Given the description of an element on the screen output the (x, y) to click on. 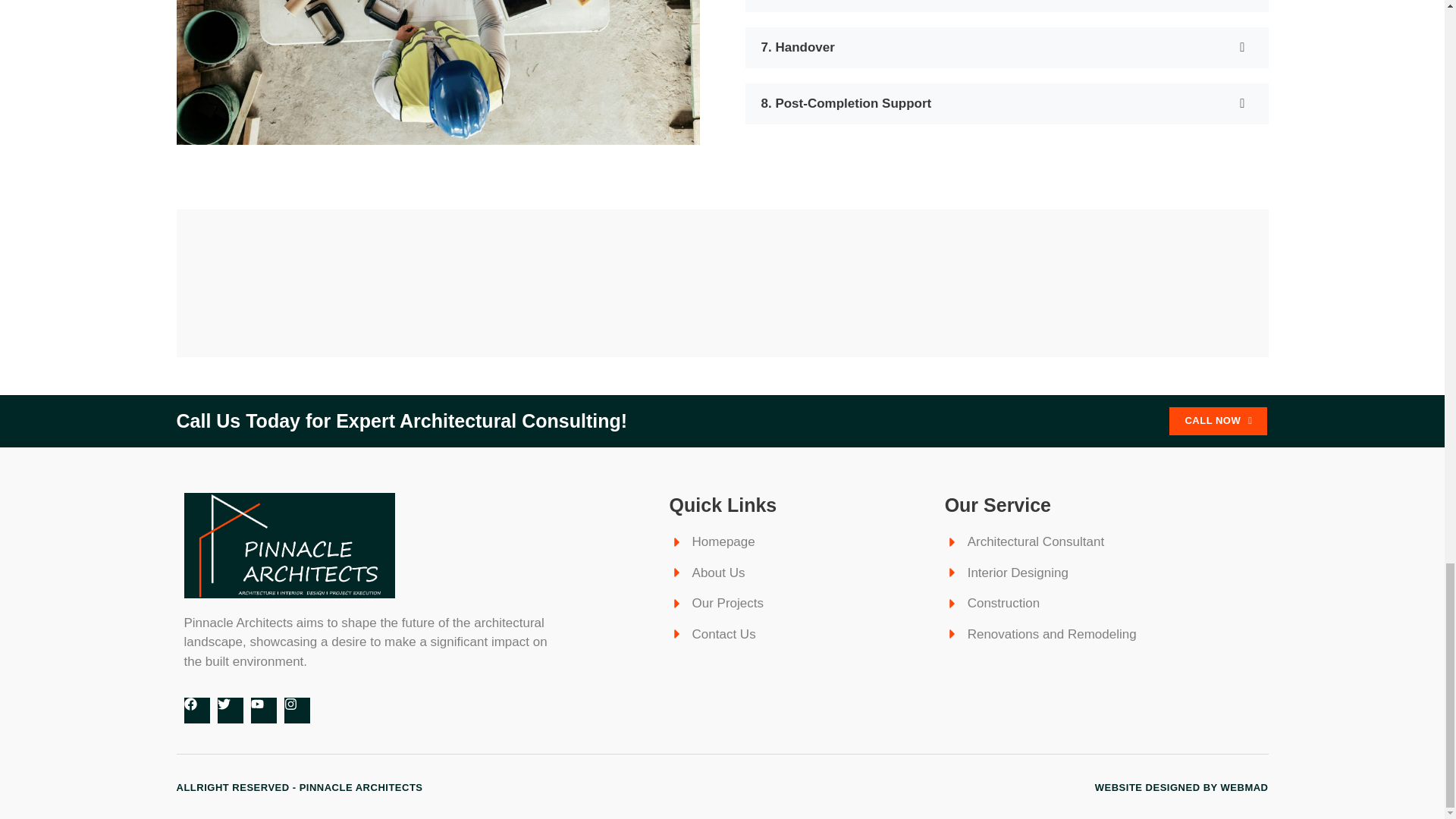
CALL NOW (1218, 420)
WEBSITE DESIGNED BY WEBMAD (1181, 787)
About Us (799, 573)
Contact Us (799, 634)
8. Post-Completion Support (1006, 103)
Architectural Consultant (1076, 542)
Homepage (799, 542)
7. Handover (1006, 47)
6. Finishing Touches (1006, 6)
Our Projects (799, 603)
